Given the description of an element on the screen output the (x, y) to click on. 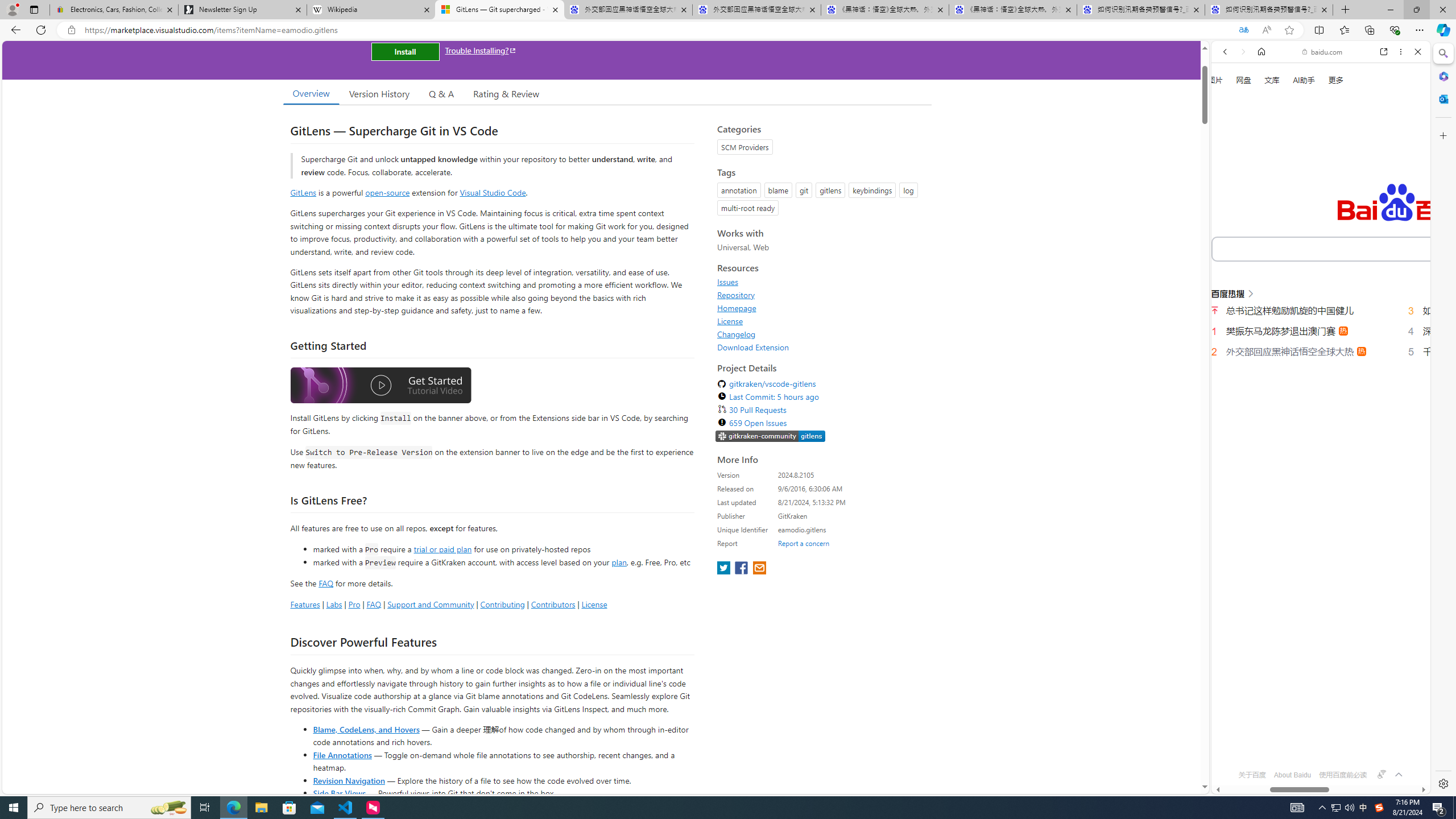
OF | English meaning - Cambridge Dictionary (1315, 238)
Issues (727, 281)
Learn more (1264, 154)
Repository (820, 294)
Q & A (441, 92)
Revision Navigation (348, 780)
